Given the description of an element on the screen output the (x, y) to click on. 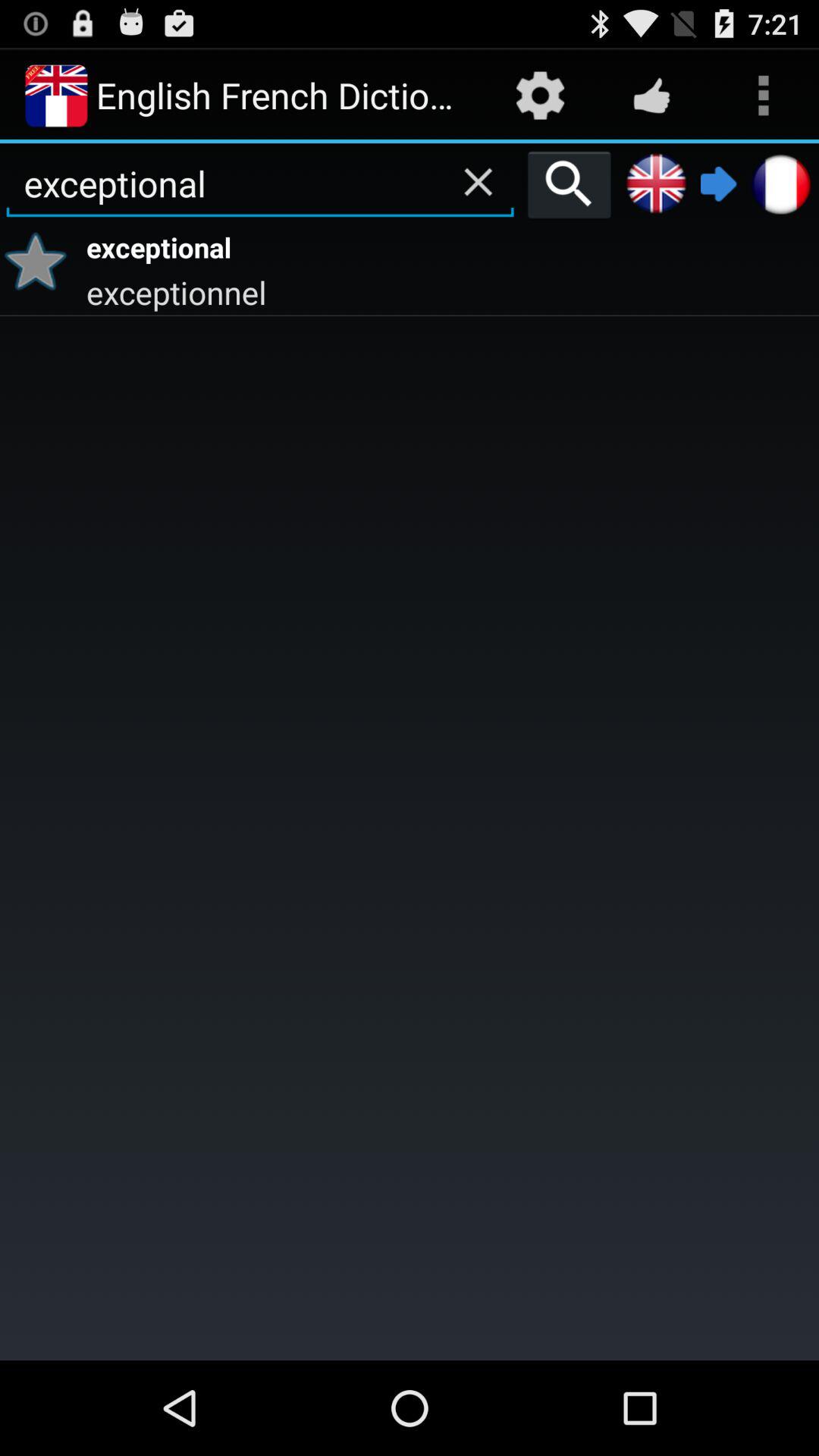
turn on the item below exceptional app (451, 291)
